Given the description of an element on the screen output the (x, y) to click on. 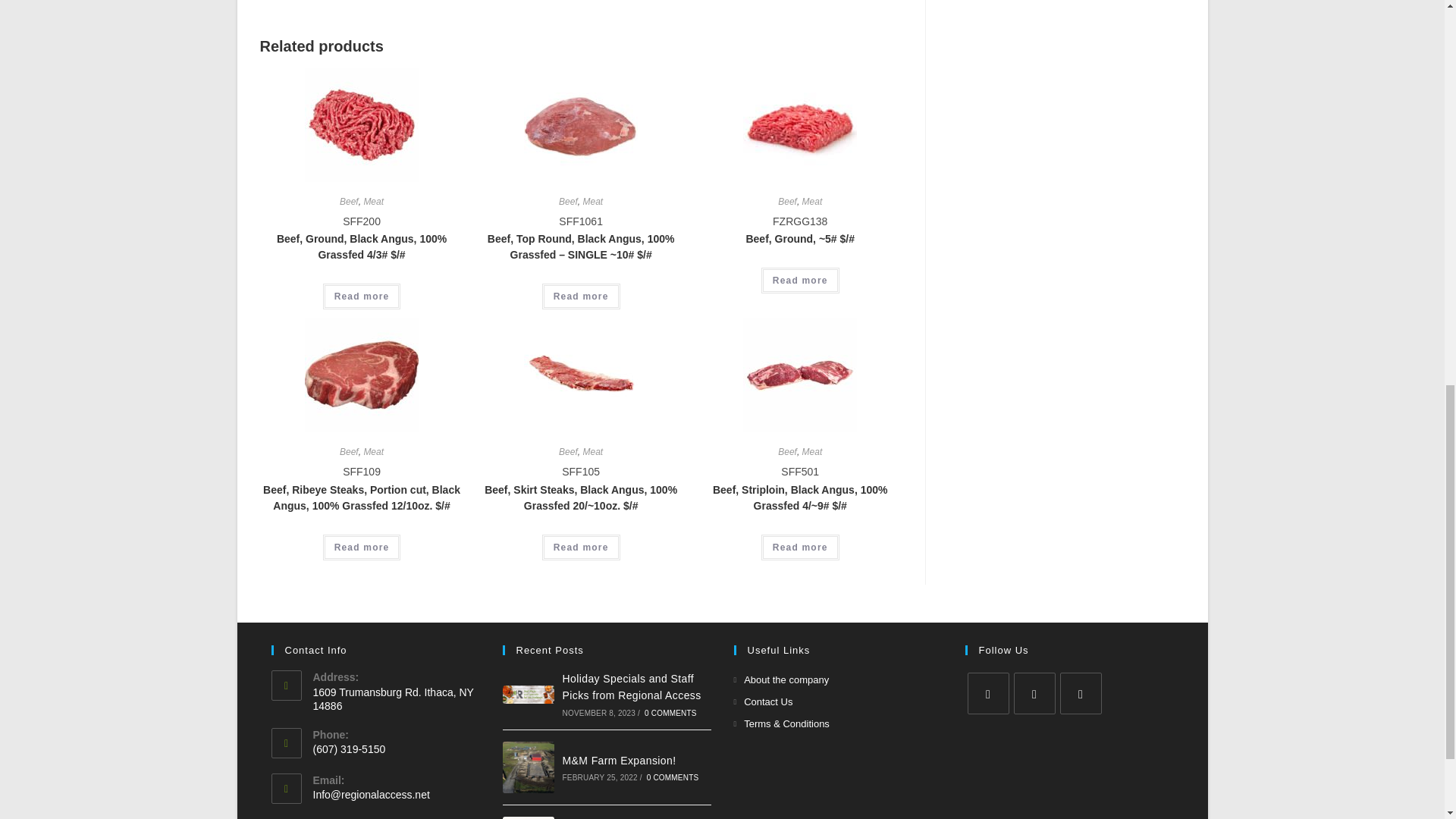
Holiday Specials and Staff Picks from Regional Access (527, 693)
